Given the description of an element on the screen output the (x, y) to click on. 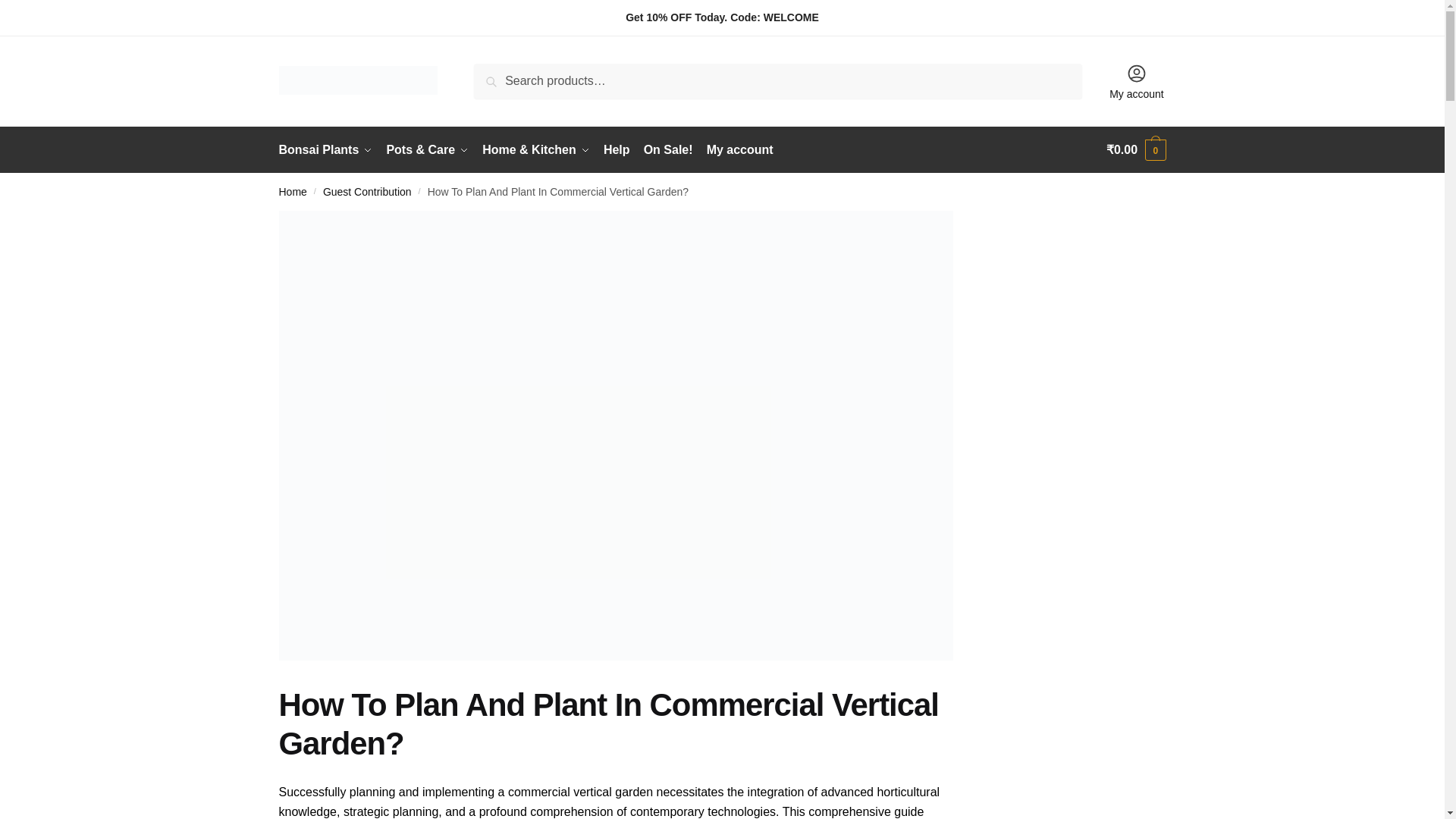
Bonsai Plants (329, 149)
My account (740, 149)
On Sale! (668, 149)
View your shopping cart (1136, 149)
Home (293, 191)
My account (1136, 80)
Search (497, 74)
Guest Contribution (367, 191)
